Given the description of an element on the screen output the (x, y) to click on. 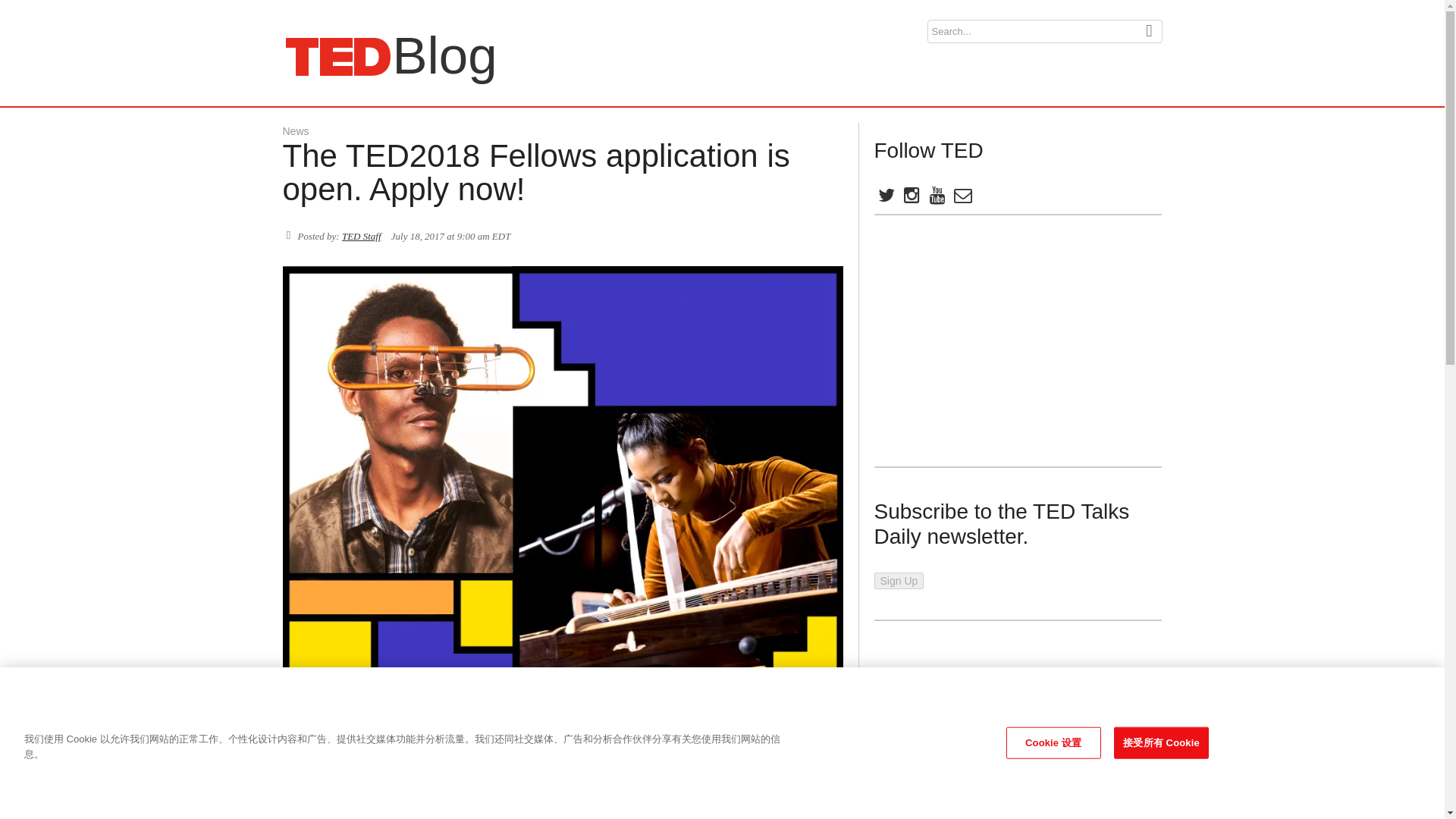
Instagram (910, 197)
TED2018 (466, 764)
Sign Up (898, 580)
Meet the TED2018 Fellows (415, 711)
Sign Up (898, 580)
TED Staff (361, 235)
News (337, 56)
TED Blog (295, 131)
Twitter (337, 56)
3rd party ad content (884, 197)
Subscribe to TED Blog by email (986, 340)
YouTube (961, 197)
Posts by TED Staff (935, 197)
